Given the description of an element on the screen output the (x, y) to click on. 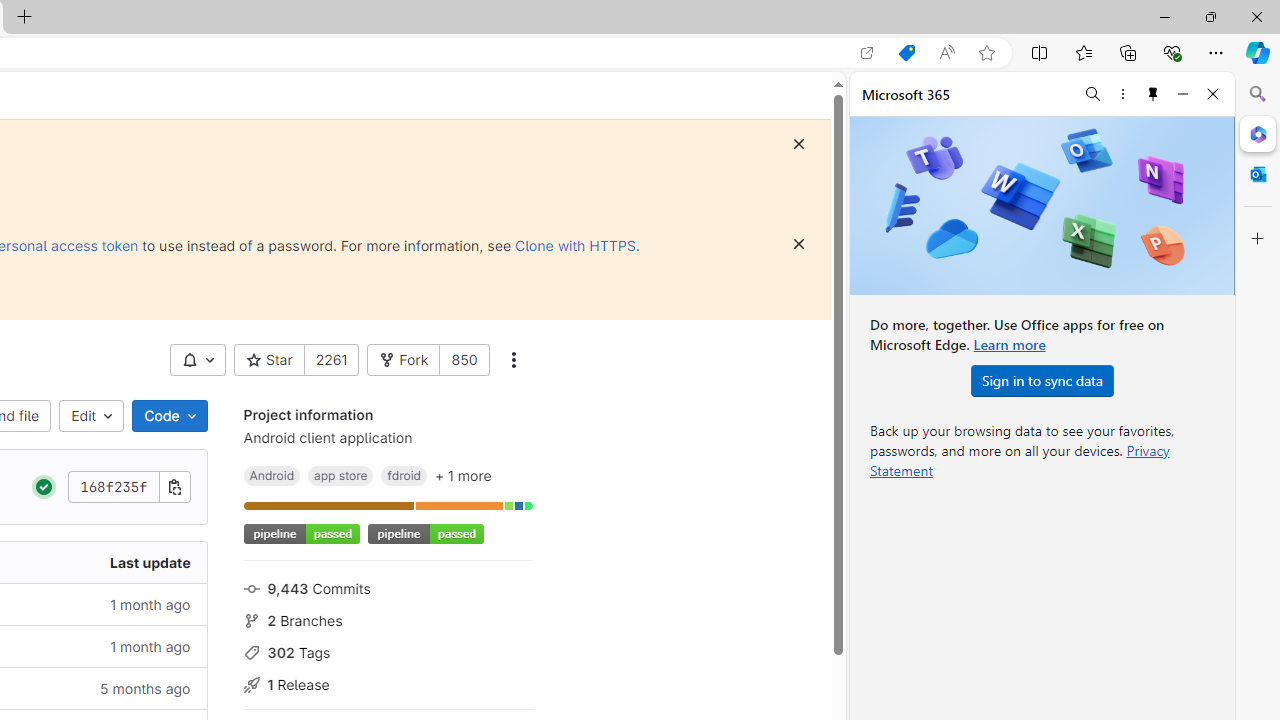
Edit (91, 416)
More actions (512, 359)
Sign in to sync data (1042, 380)
Class: s16 icon gl-mr-3 gl-text-gray-500 (251, 685)
Project badge (425, 534)
Code (169, 416)
Clone with HTTPS (575, 245)
AutomationID: __BVID__332__BV_toggle_ (198, 359)
Learn more about Microsoft Office. (1008, 344)
9,443 Commits (387, 587)
Fork (404, 359)
